Given the description of an element on the screen output the (x, y) to click on. 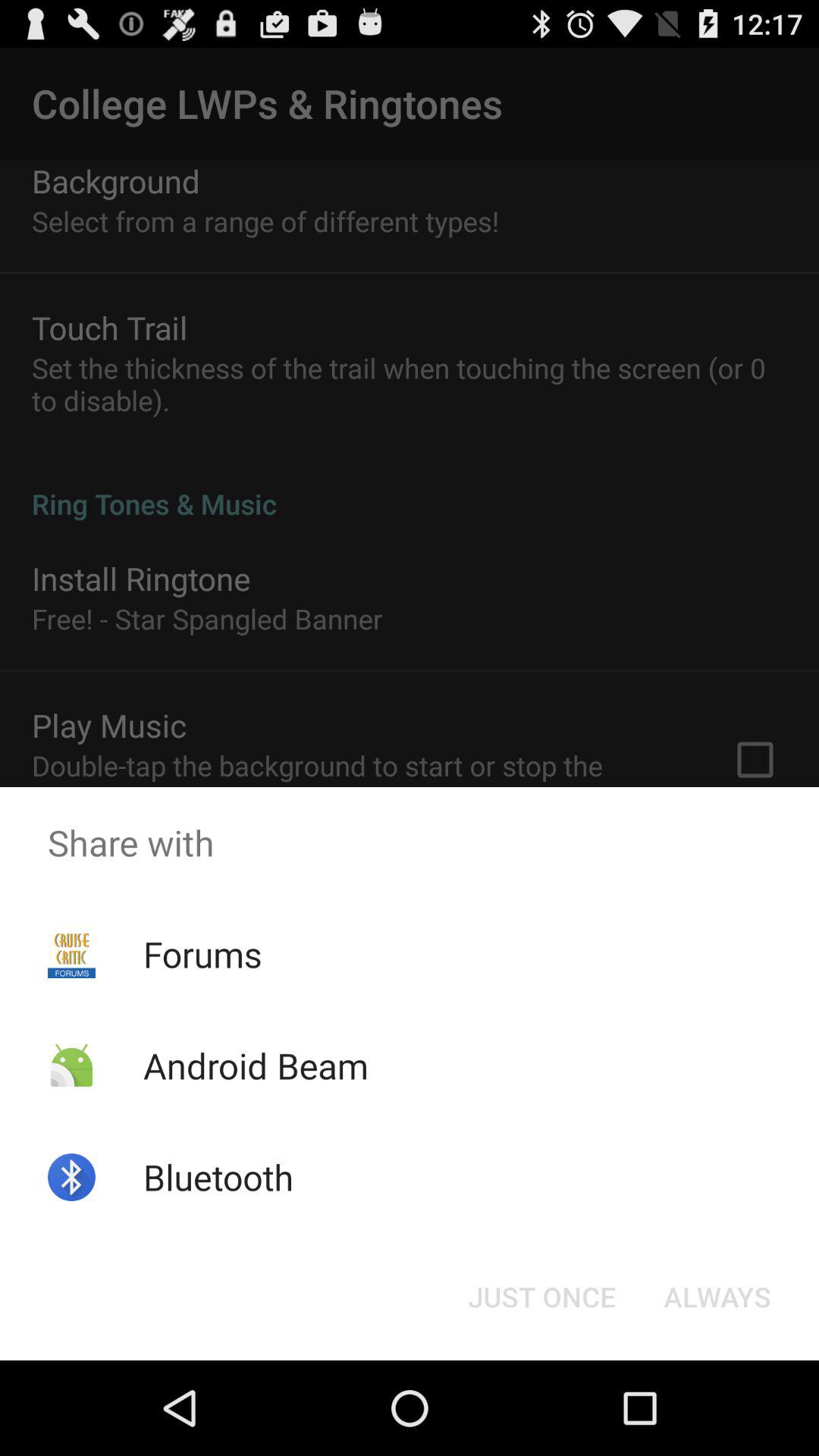
choose the app above the bluetooth icon (255, 1065)
